Given the description of an element on the screen output the (x, y) to click on. 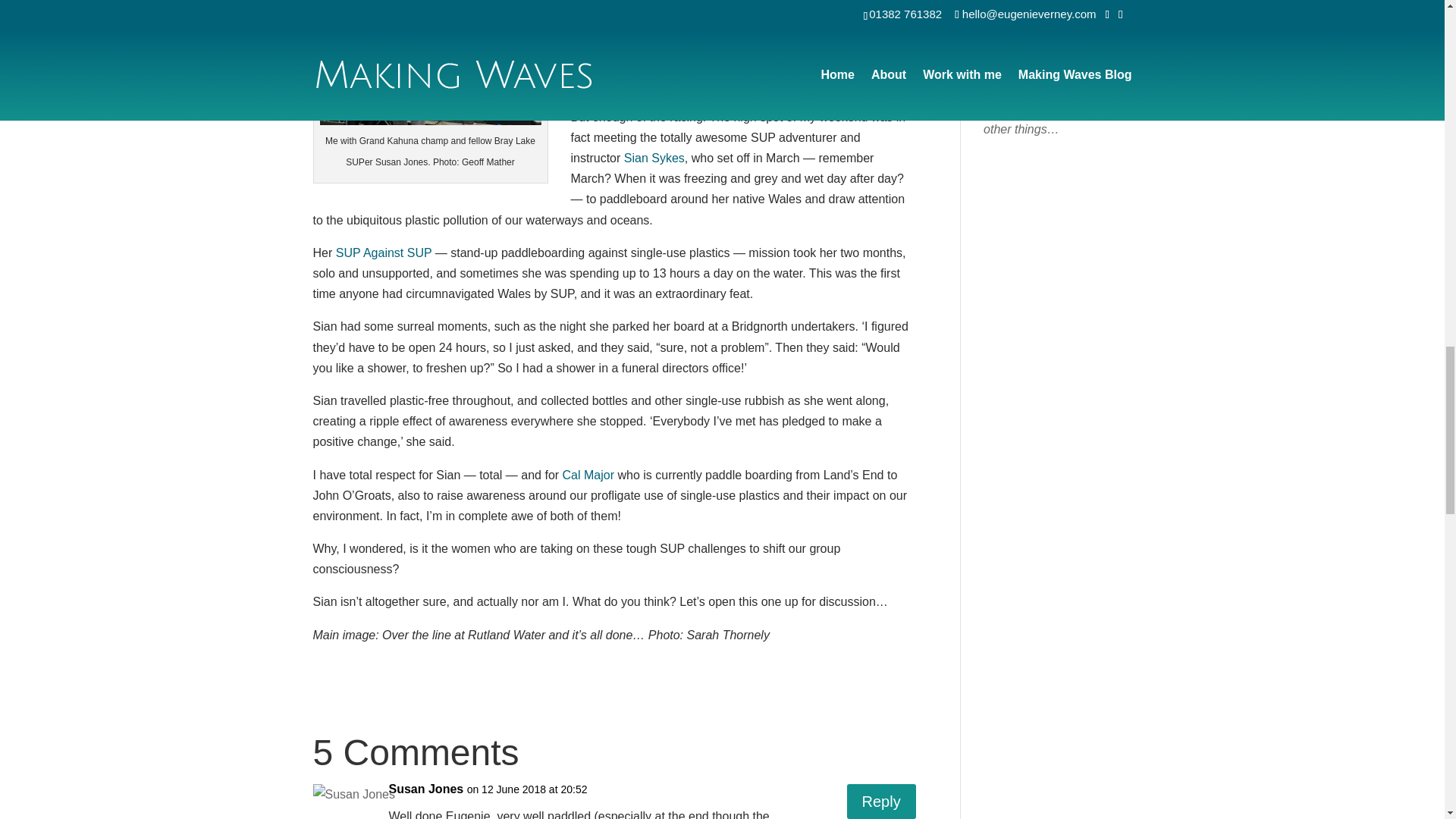
SUP Against SUP (384, 252)
as I know only too well (737, 32)
Reply (881, 801)
Cal Major (588, 474)
Sian Sykes (654, 157)
